Given the description of an element on the screen output the (x, y) to click on. 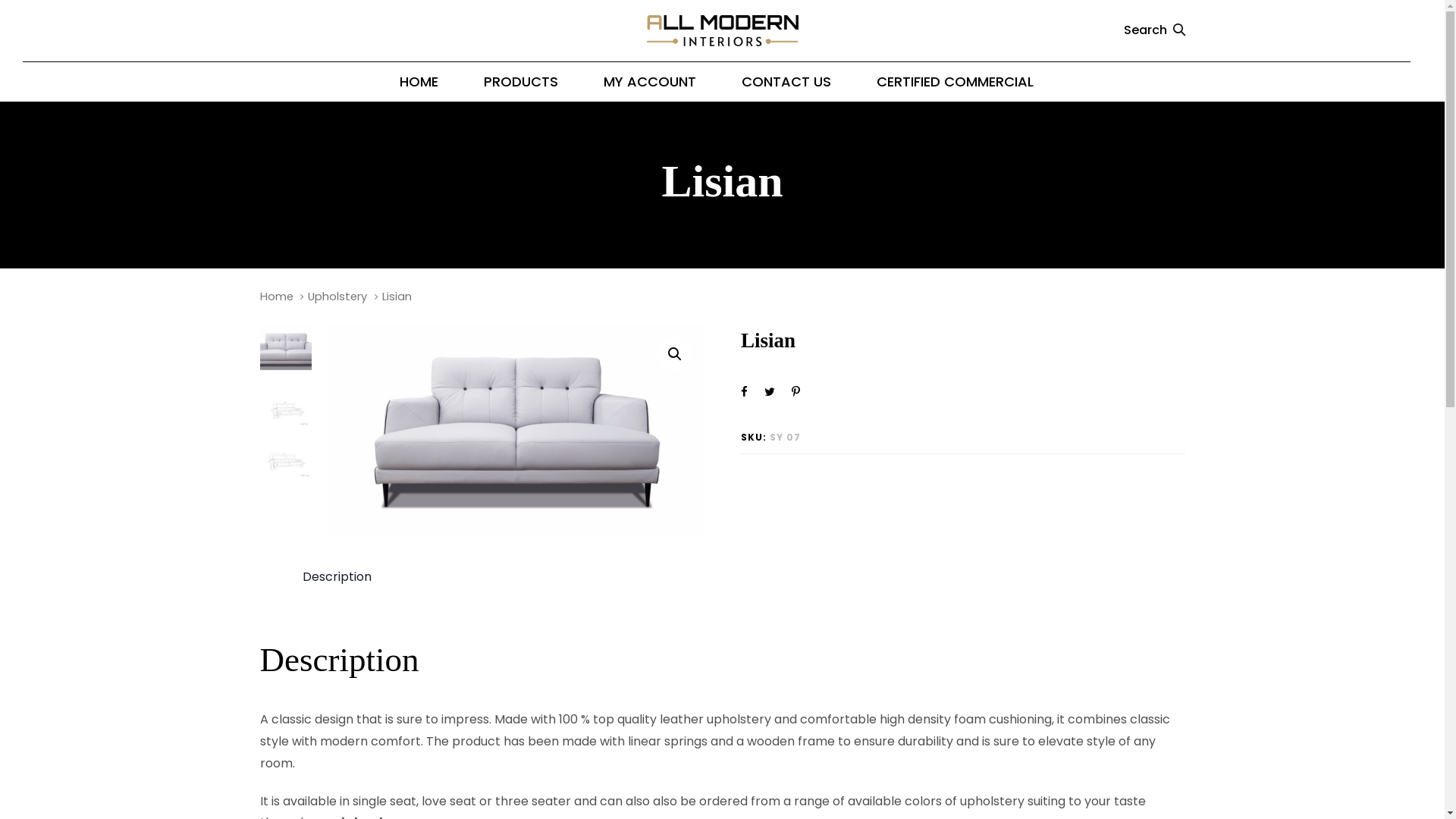
CONTACT US Element type: text (785, 82)
Lisian Element type: hover (515, 430)
MY ACCOUNT Element type: text (649, 82)
Upholstery Element type: text (337, 296)
CERTIFIED COMMERCIAL Element type: text (954, 82)
PRODUCTS Element type: text (520, 82)
Home Element type: text (275, 296)
Description Element type: text (335, 576)
HOME Element type: text (418, 82)
